Given the description of an element on the screen output the (x, y) to click on. 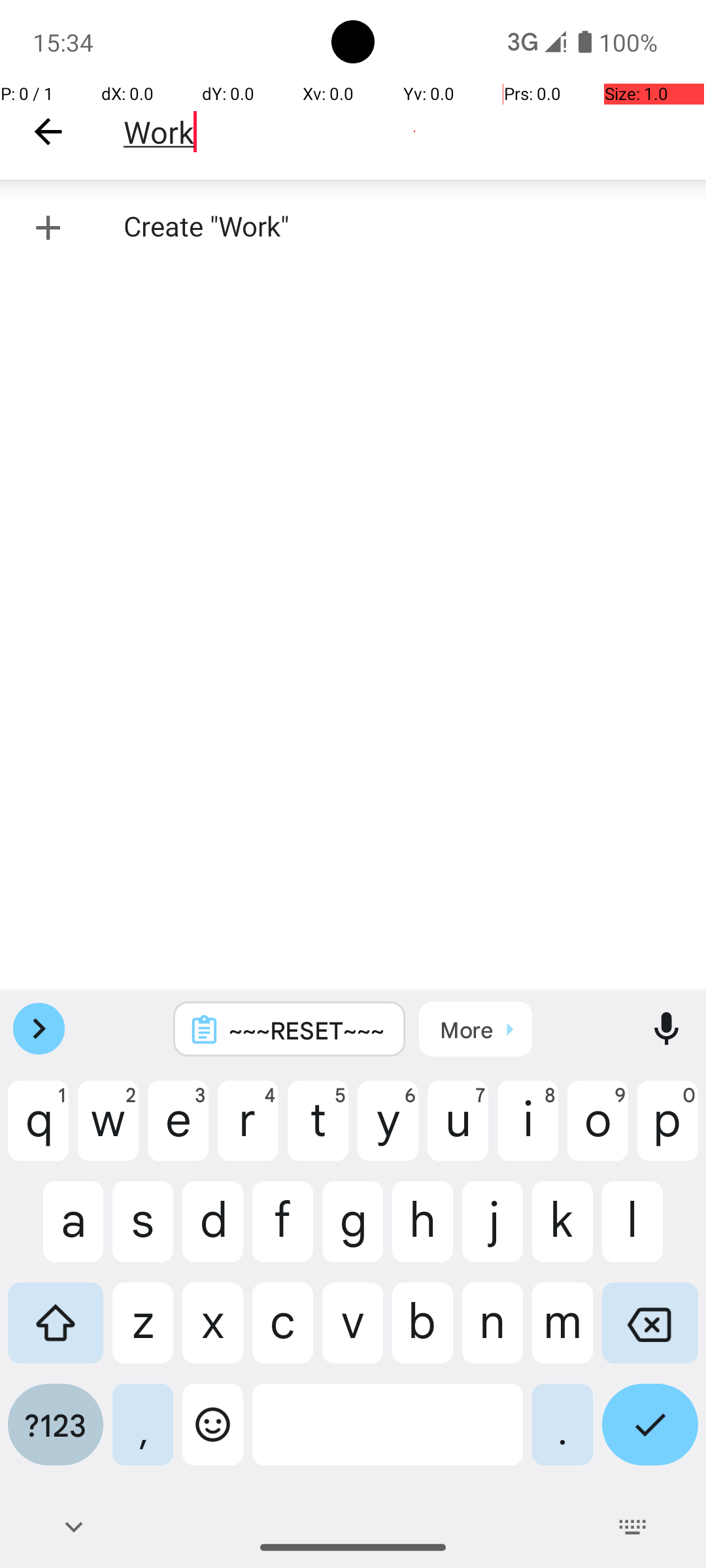
Create "Work" Element type: android.widget.TextView (353, 227)
